Given the description of an element on the screen output the (x, y) to click on. 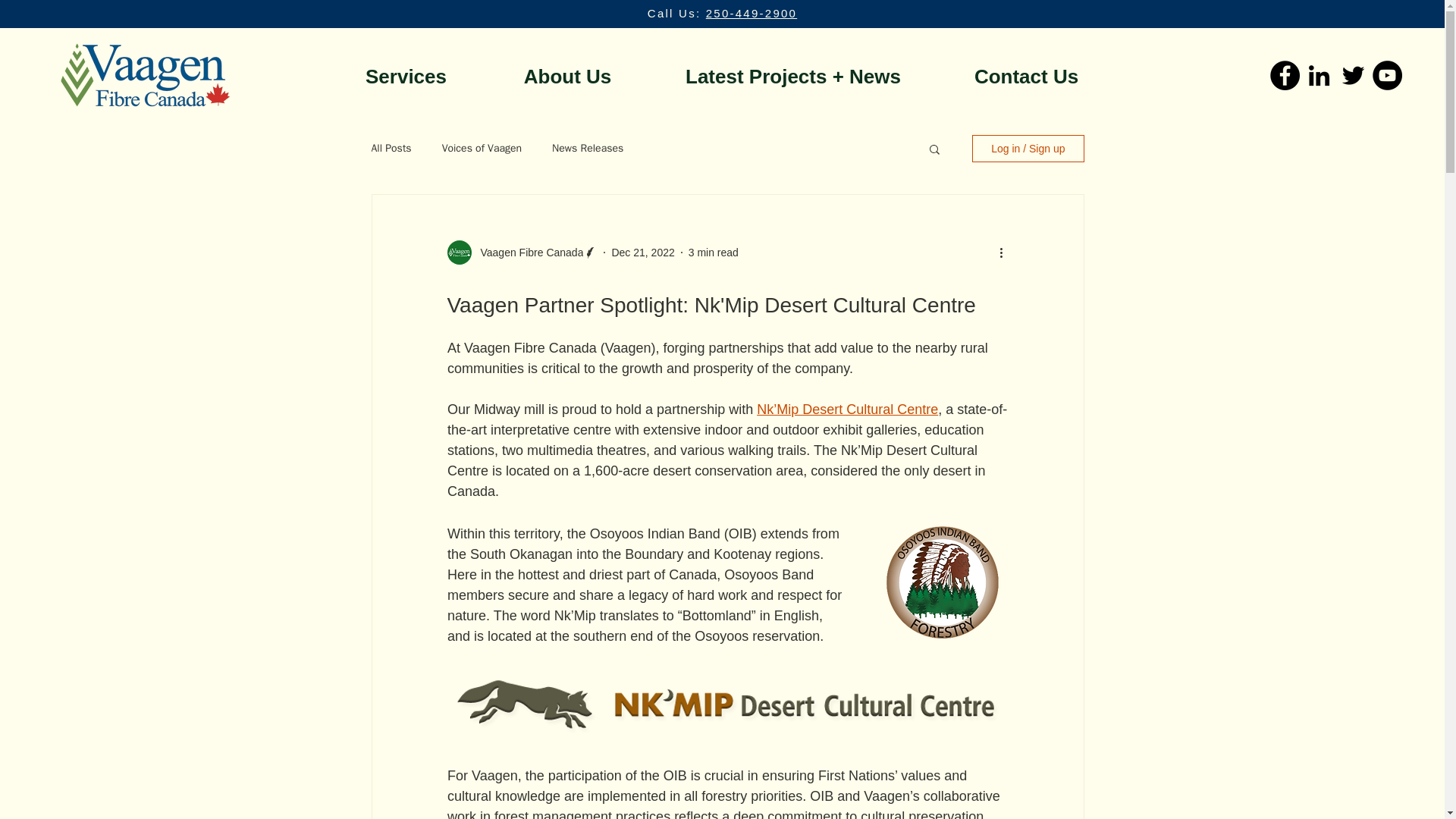
About Us (566, 75)
Services (405, 75)
All Posts (391, 148)
Voices of Vaagen (481, 148)
Contact Us (1027, 75)
3 min read (713, 251)
Dec 21, 2022 (642, 251)
News Releases (587, 148)
250-449-2900 (751, 12)
Vaagen Fibre Canada (527, 252)
